Given the description of an element on the screen output the (x, y) to click on. 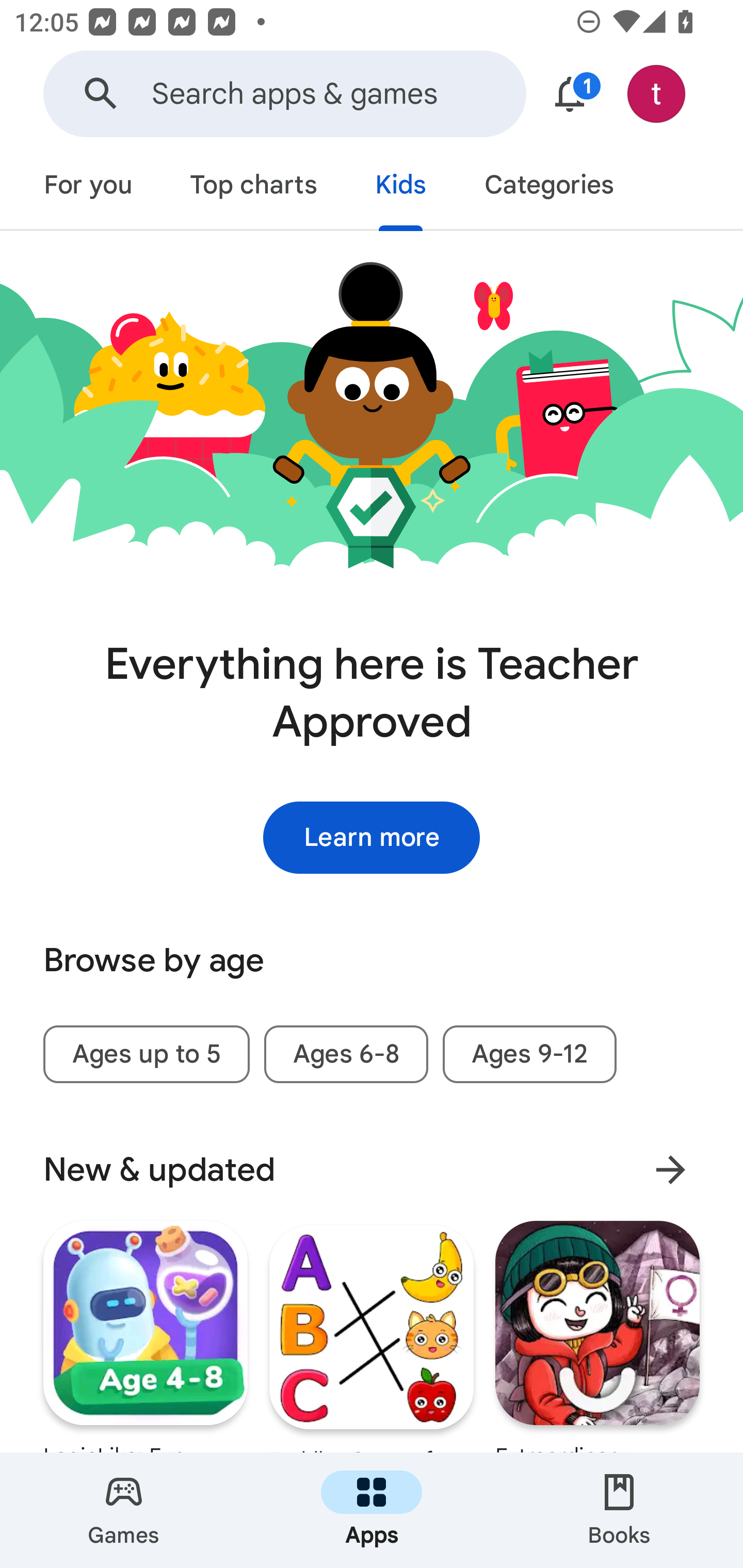
Search Google Play Search apps & games (284, 93)
Search Google Play (100, 93)
For you (87, 187)
Top charts (253, 187)
Categories (548, 187)
Ages up to 5 - tap the chip to check the content. (146, 1054)
Ages 6-8 - tap the chip to check the content. (345, 1054)
Ages 9-12 - tap the chip to check the content. (529, 1054)
New & updated More results for New & updated (371, 1169)
More results for New & updated (670, 1169)
LogicLike: Fun learning games
Star rating: 4.7
 (145, 1335)
Toddler Games for 2+ Year Olds
 (371, 1335)
Extraordinary Women
Star rating: 3.9
 (597, 1335)
Games (123, 1509)
Books (619, 1509)
